Given the description of an element on the screen output the (x, y) to click on. 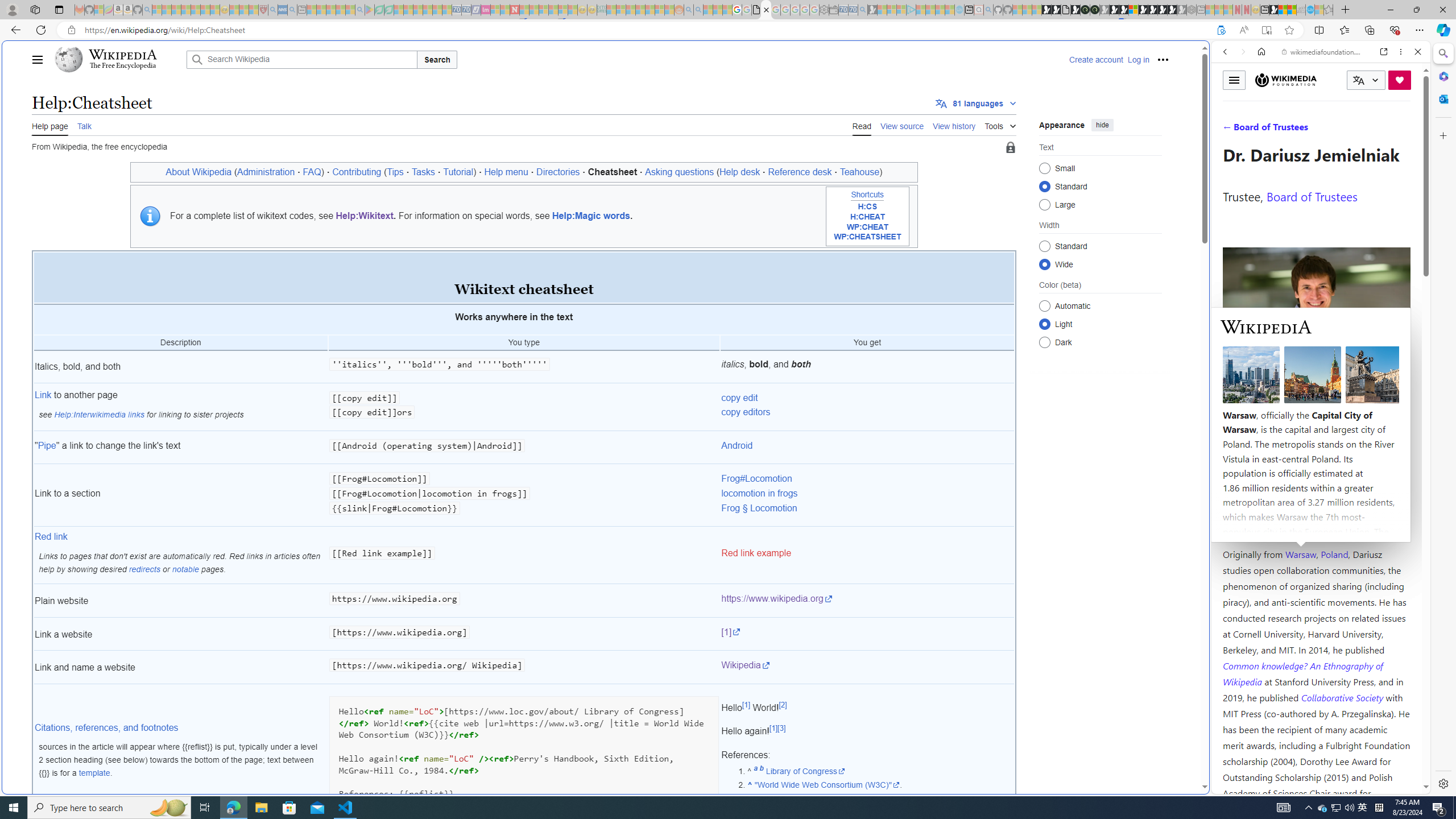
Tabs you've opened (885, 151)
Tips (395, 172)
Donate now (1399, 80)
You type (523, 343)
locomotion in frogs (758, 493)
Link a website (180, 634)
Page semi-protected (1010, 147)
Toggle menu (1233, 80)
Read (861, 124)
